Given the description of an element on the screen output the (x, y) to click on. 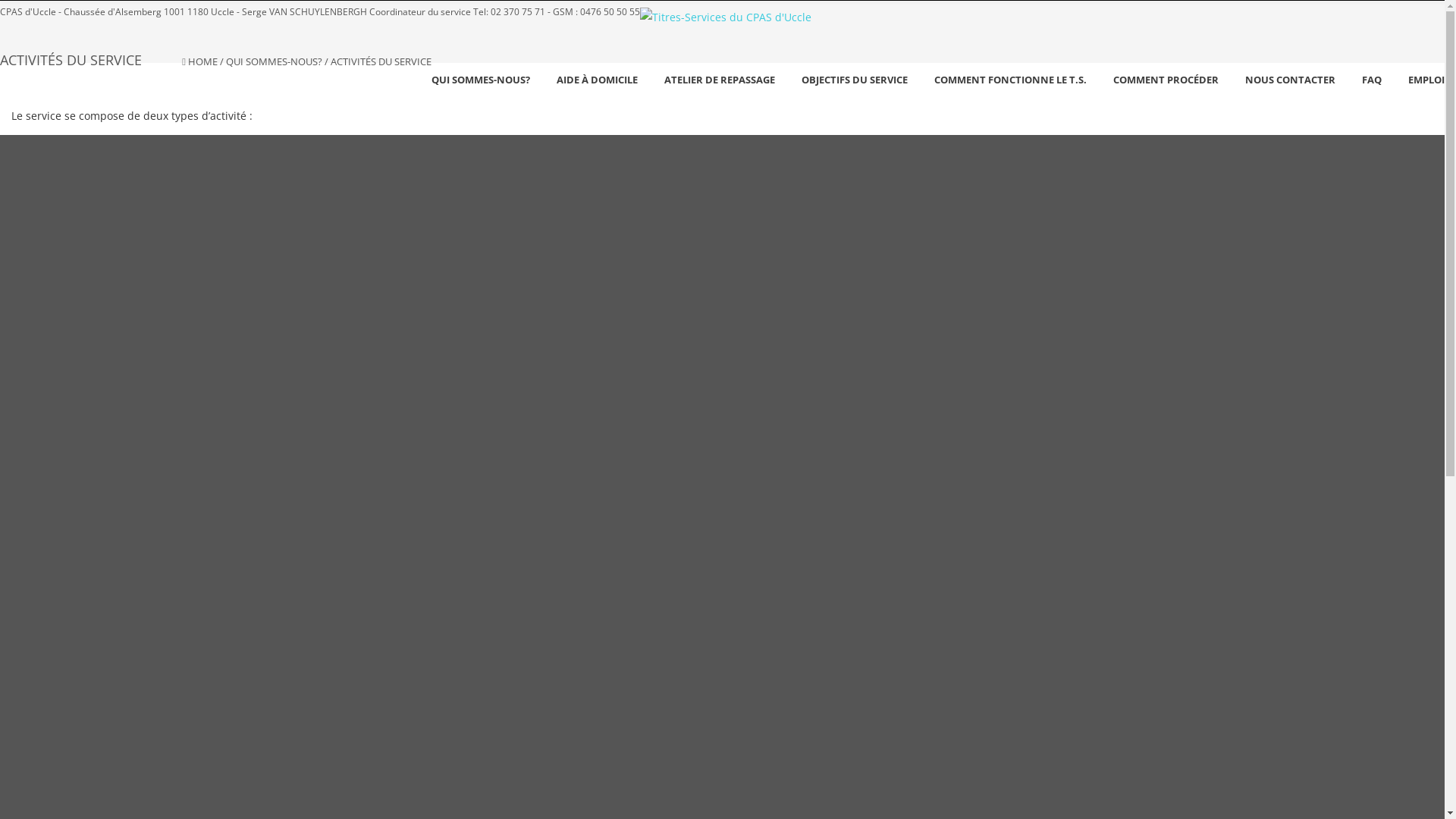
NOUS CONTACTER Element type: text (1290, 79)
ATELIER DE REPASSAGE Element type: text (719, 79)
OBJECTIFS DU SERVICE Element type: text (854, 79)
HOME Element type: text (202, 61)
EMPLOI Element type: text (1426, 79)
QUI SOMMES-NOUS? Element type: text (480, 79)
FAQ Element type: text (1371, 79)
QUI SOMMES-NOUS? Element type: text (273, 61)
COMMENT FONCTIONNE LE T.S. Element type: text (1010, 79)
